Given the description of an element on the screen output the (x, y) to click on. 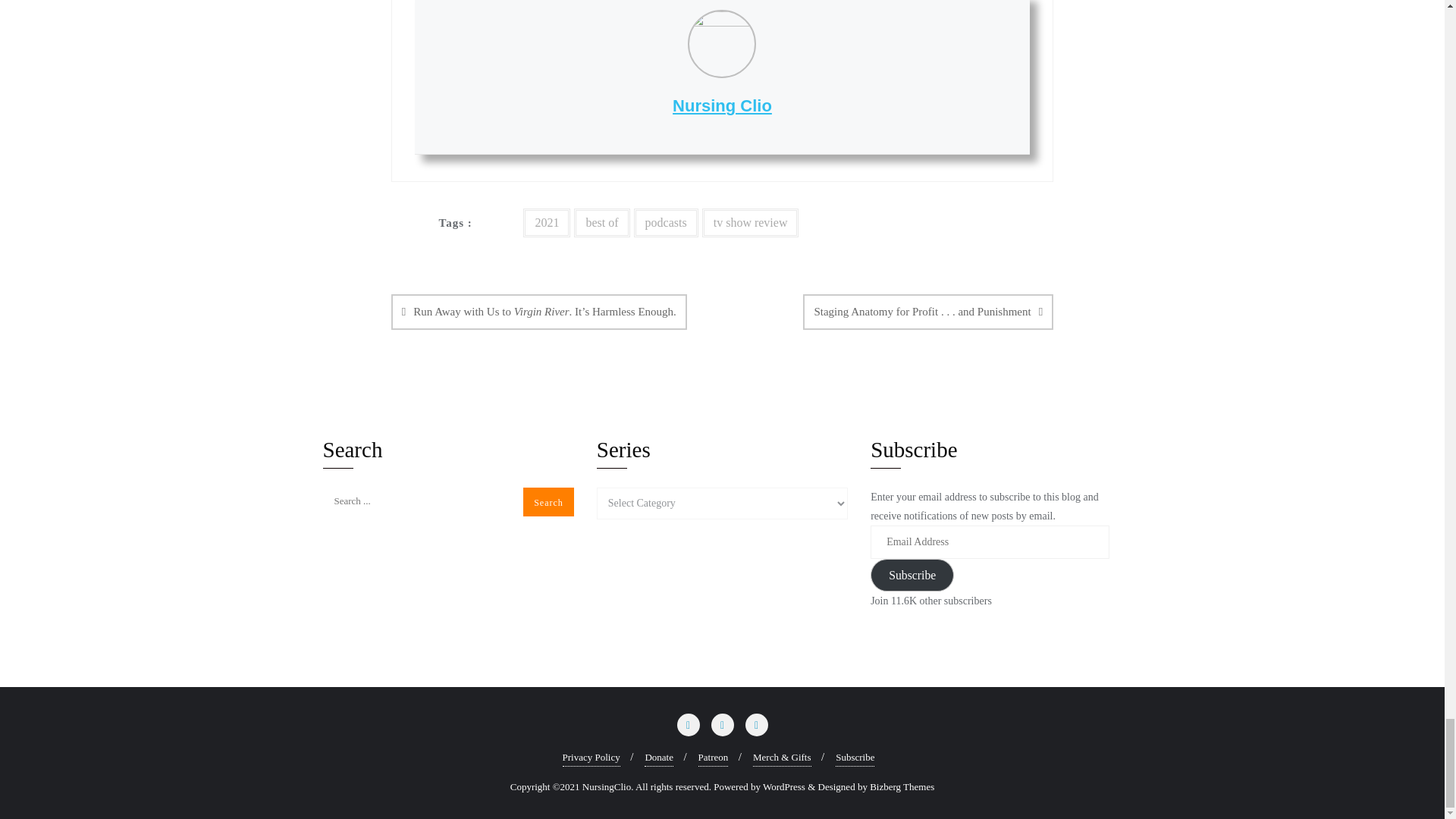
Search (547, 502)
Search (547, 502)
